Given the description of an element on the screen output the (x, y) to click on. 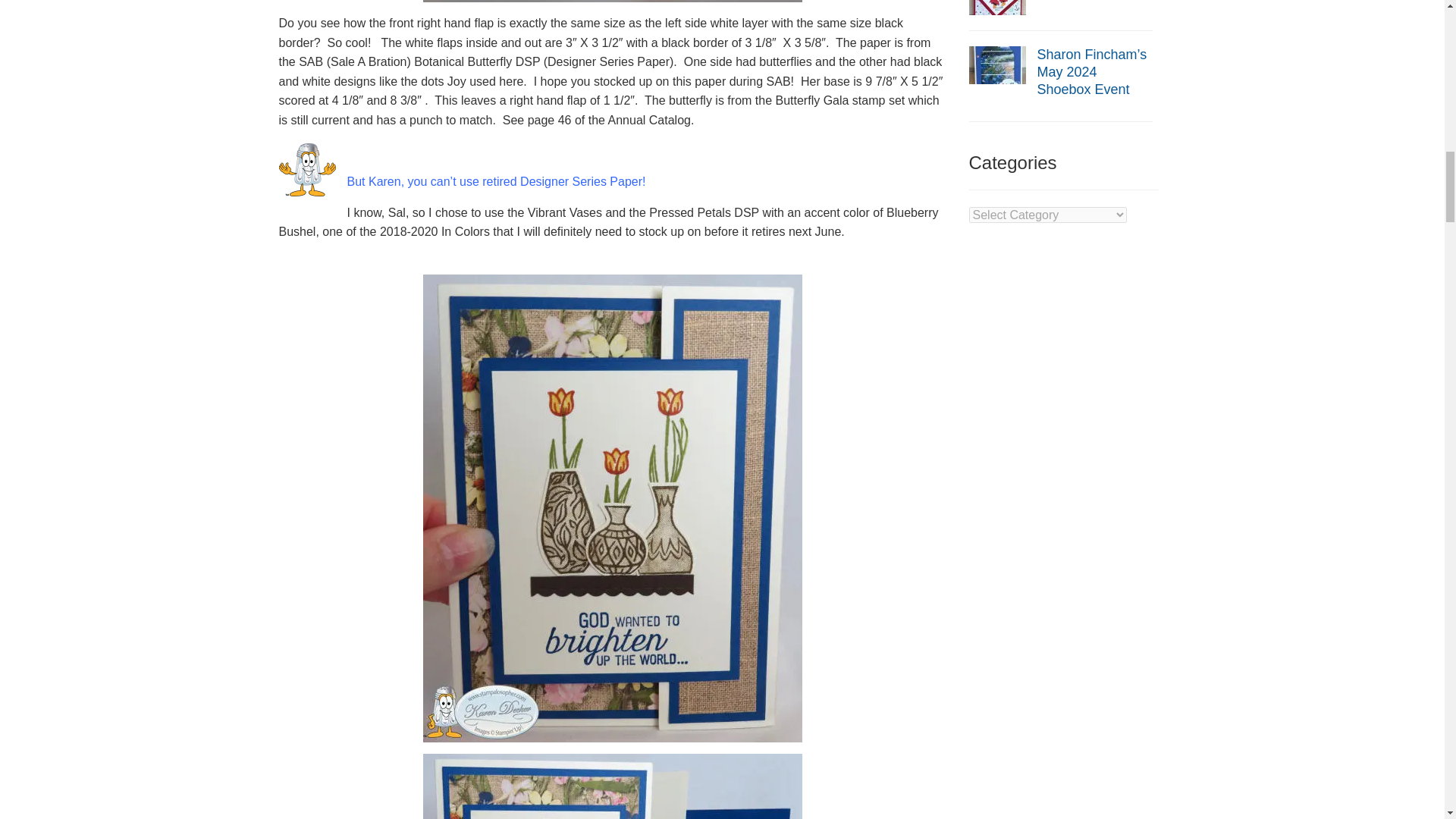
Permanent Link to Graduation Time! (997, 1)
